Given the description of an element on the screen output the (x, y) to click on. 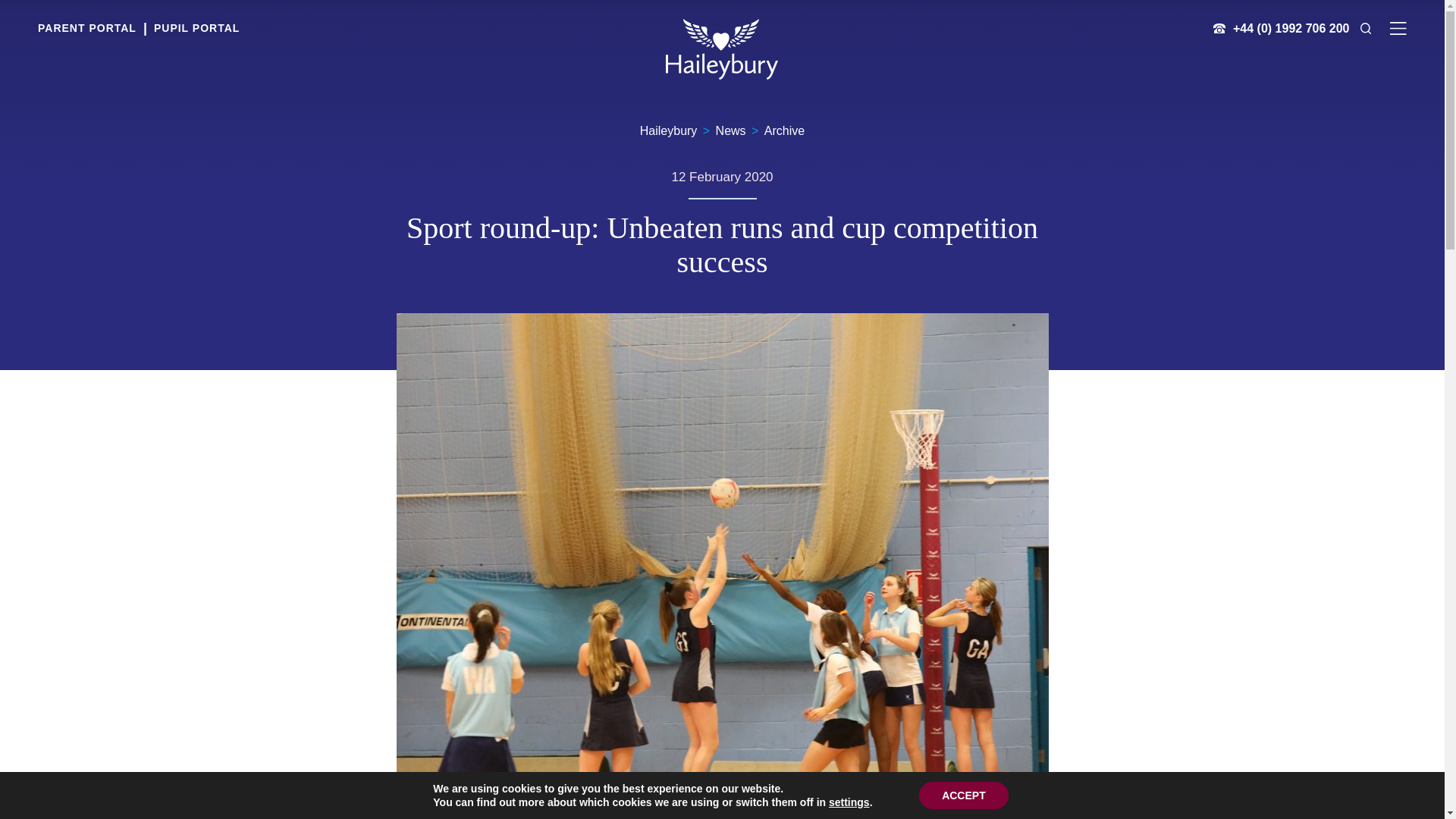
Go to Haileybury. (668, 130)
Go to News. (730, 130)
Go to Archive. (784, 130)
